Given the description of an element on the screen output the (x, y) to click on. 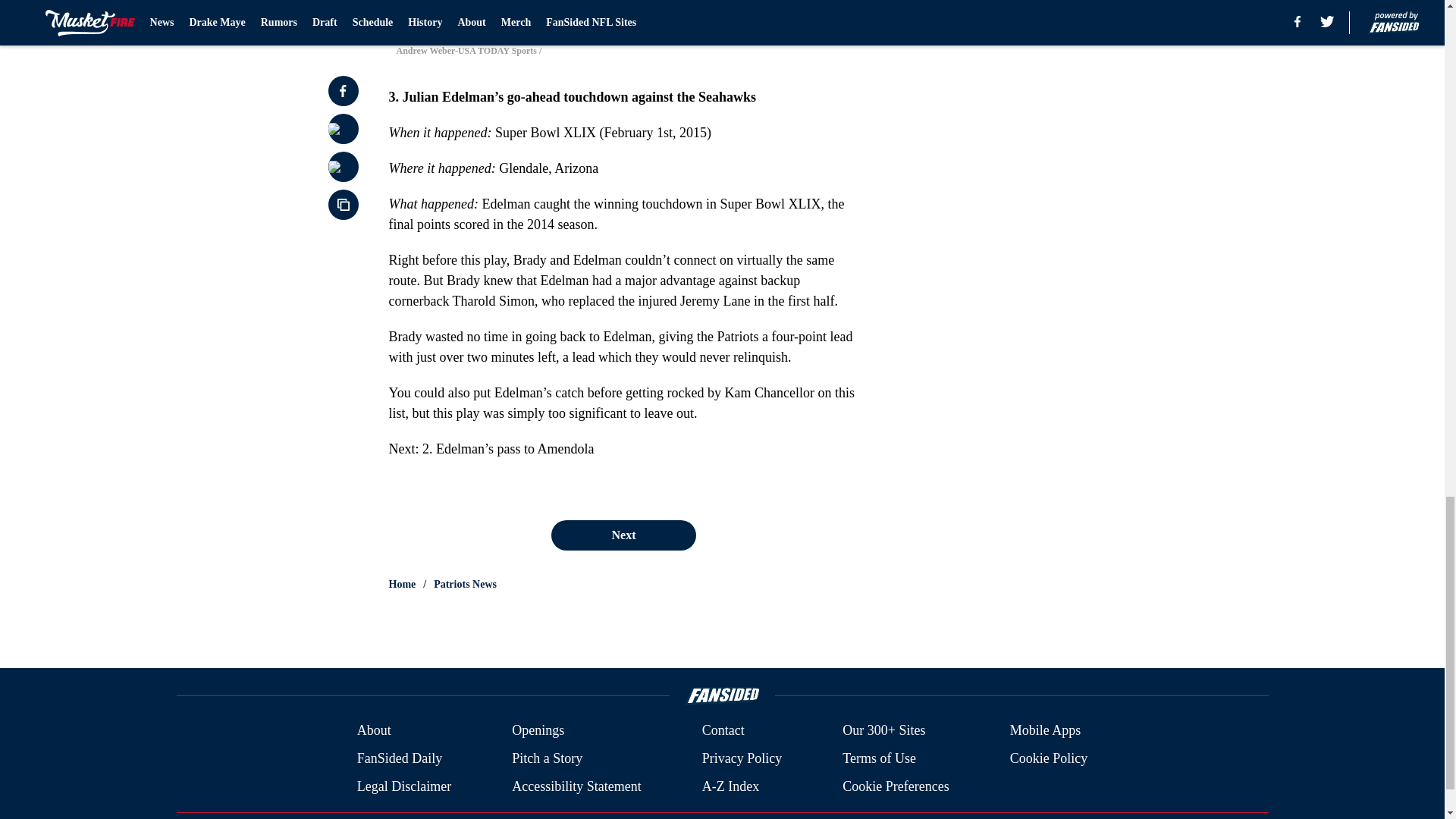
Accessibility Statement (576, 785)
A-Z Index (729, 785)
Home (401, 584)
Cookie Policy (1048, 758)
About (373, 729)
Next (622, 534)
Terms of Use (879, 758)
Openings (538, 729)
Privacy Policy (742, 758)
Contact (722, 729)
